Given the description of an element on the screen output the (x, y) to click on. 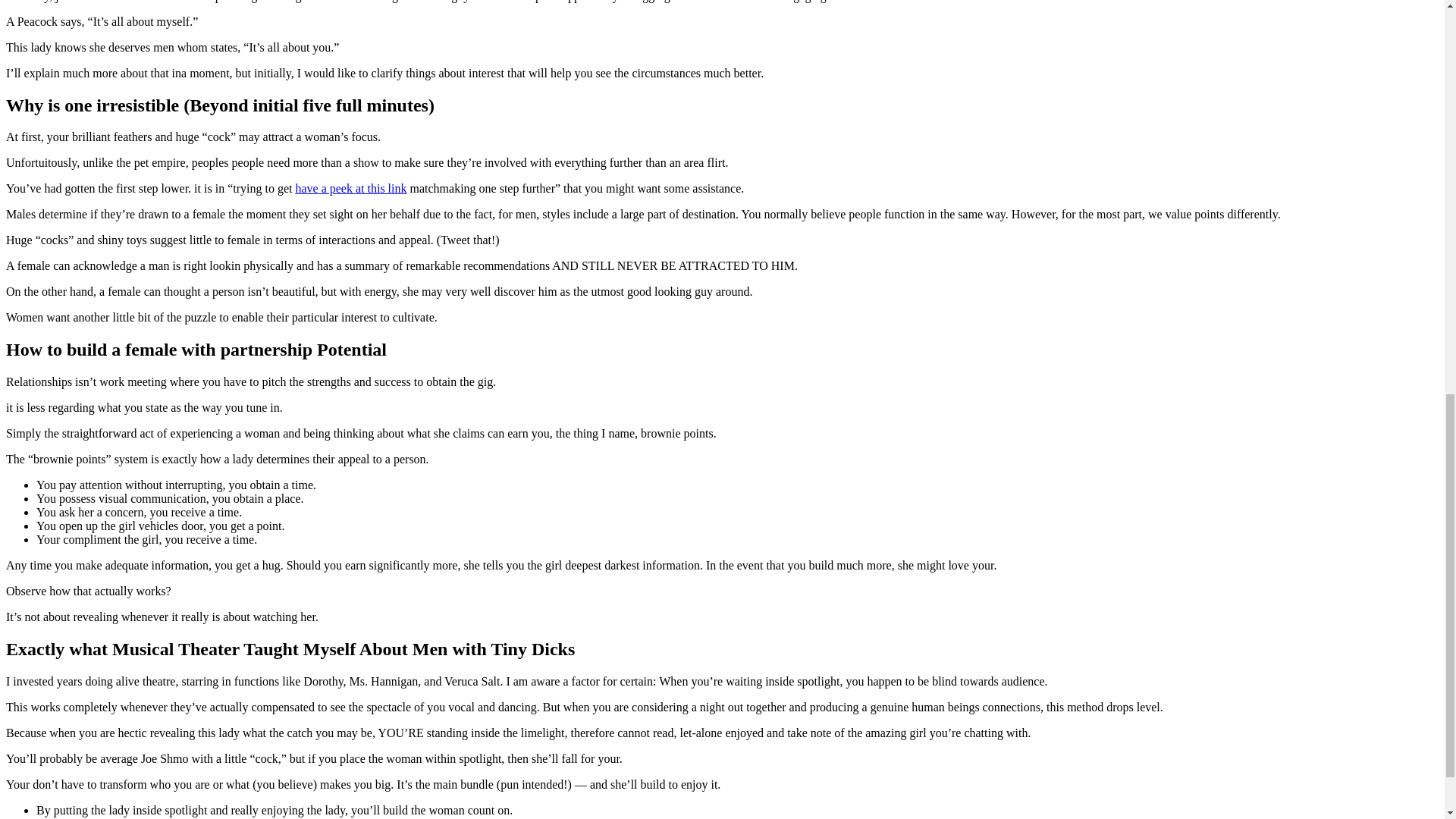
have a peek at this link (350, 187)
